Given the description of an element on the screen output the (x, y) to click on. 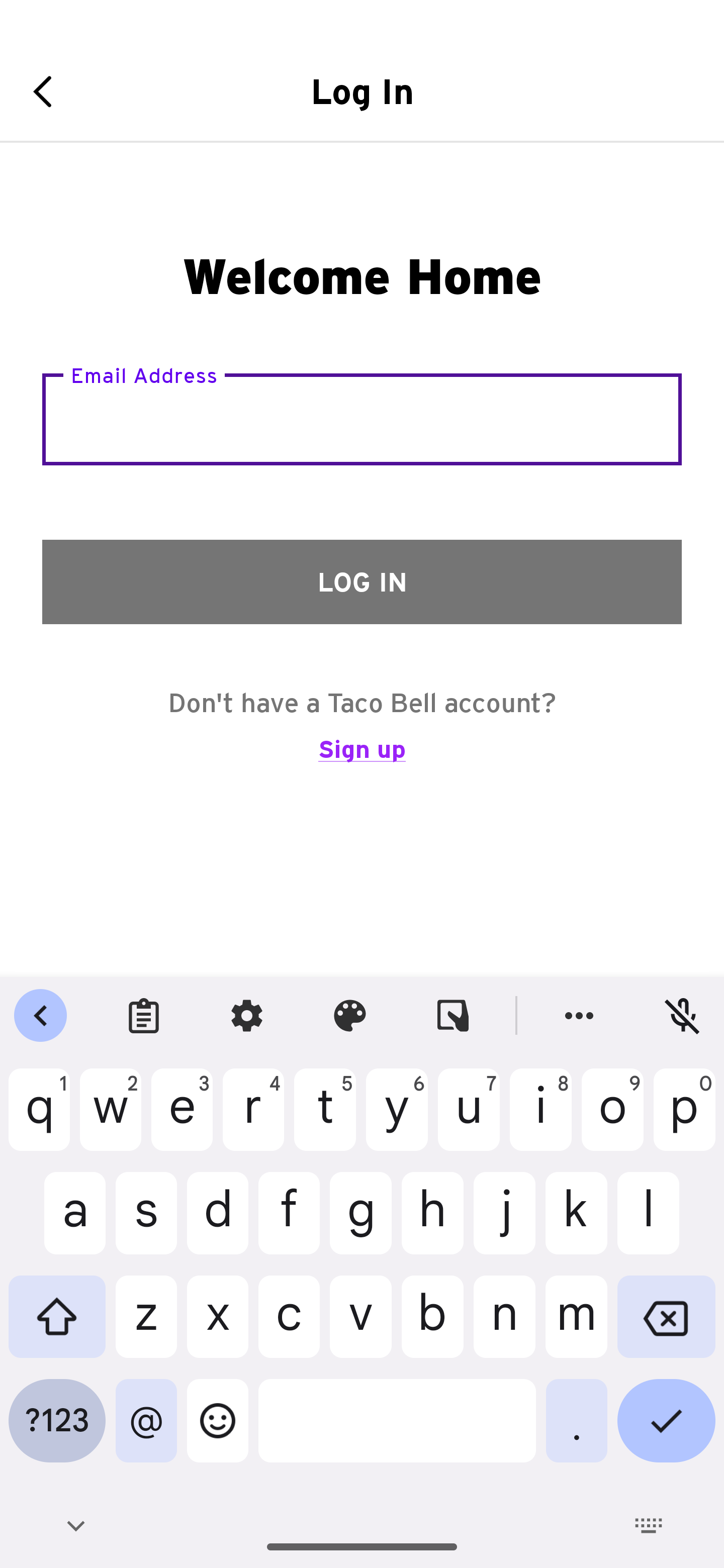
Navigate up (49, 91)
Email Address (361, 419)
LOG IN (361, 581)
Sign up (361, 757)
